Given the description of an element on the screen output the (x, y) to click on. 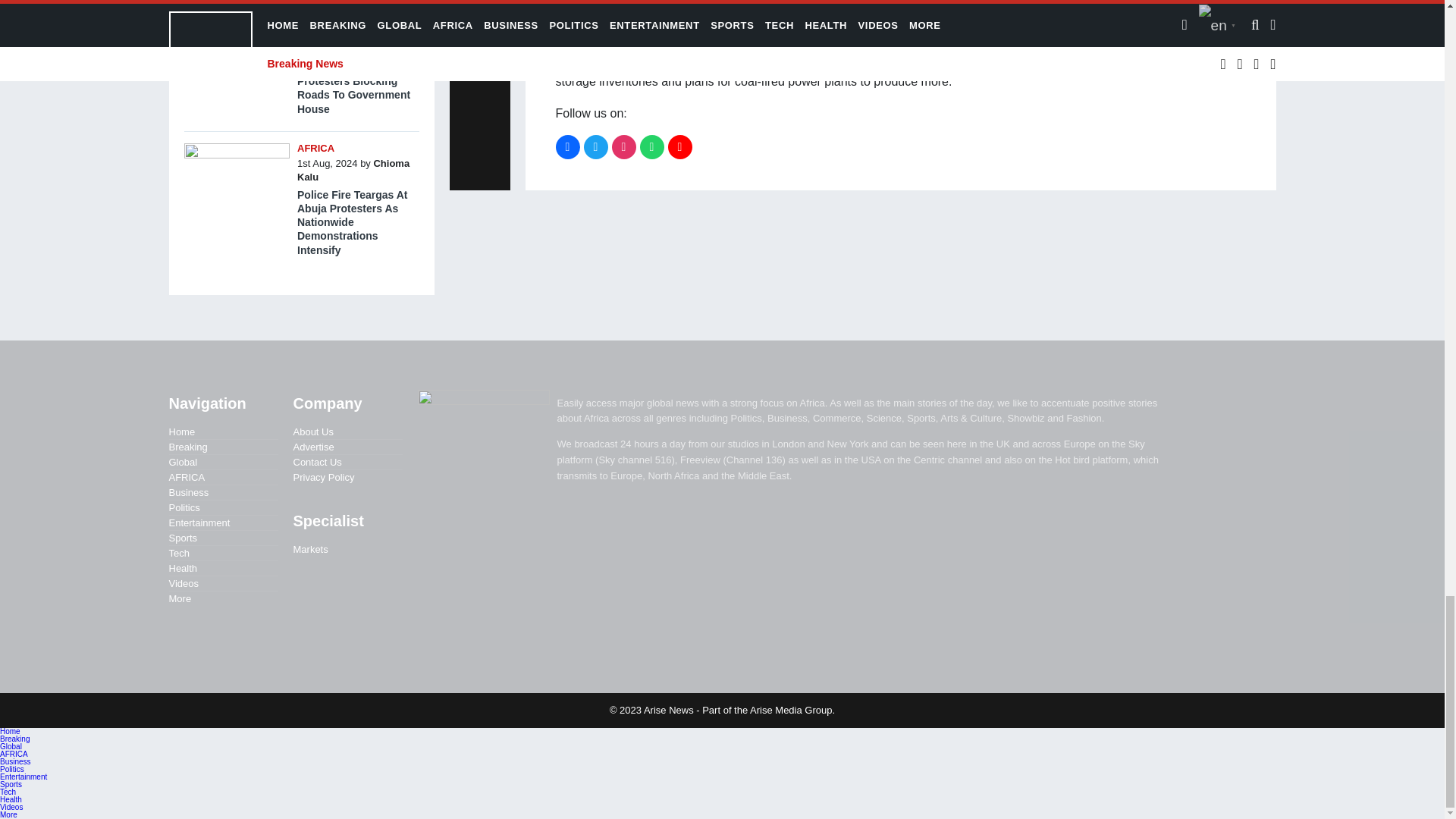
Instagram (622, 146)
WhatsApp (651, 146)
Facebook (566, 146)
Twitter (595, 146)
